Given the description of an element on the screen output the (x, y) to click on. 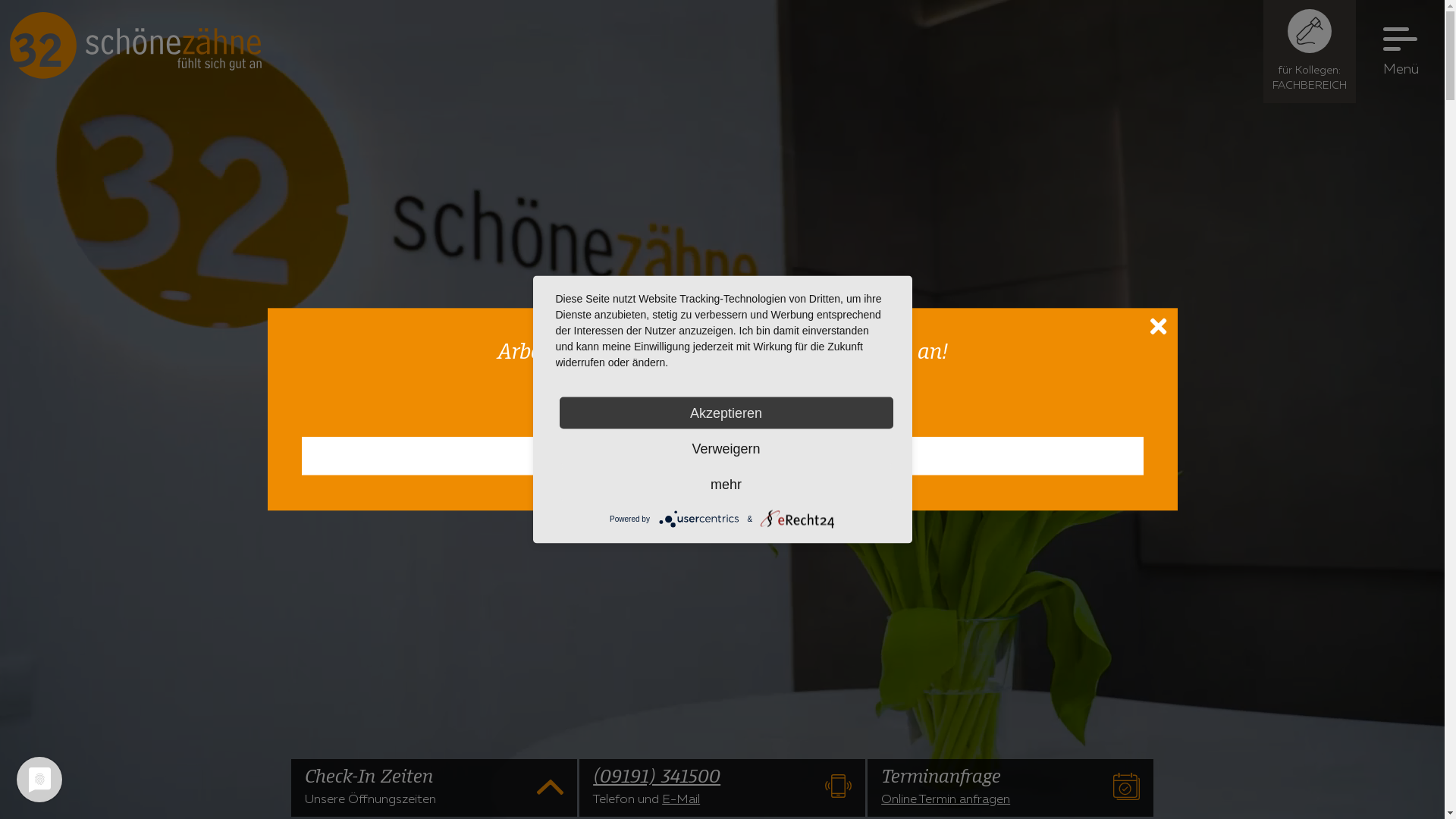
E-Mail Element type: text (680, 798)
Online Termin anfragen Element type: text (945, 798)
mehr Element type: text (726, 484)
Direkt anrufen Element type: hover (838, 786)
(09191) 341500 Element type: text (704, 776)
Verweigern Element type: text (726, 448)
Akzeptieren Element type: text (726, 413)
Gleich zu den Stellen Element type: text (722, 456)
